Given the description of an element on the screen output the (x, y) to click on. 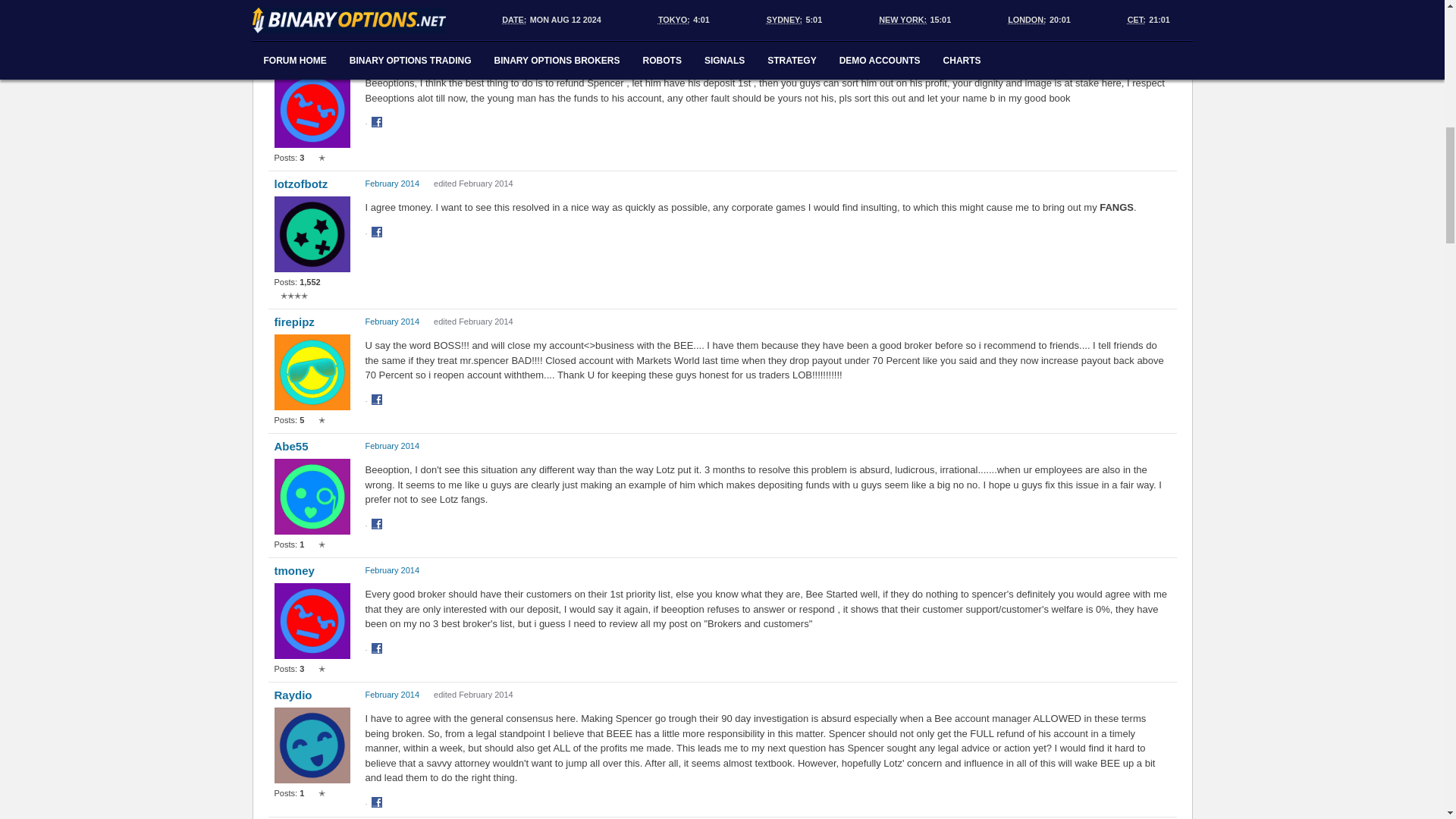
Share on Facebook (378, 123)
February 2014 (392, 58)
Share on Facebook (378, 8)
tmoney (312, 59)
lotzofbotz (312, 183)
